Given the description of an element on the screen output the (x, y) to click on. 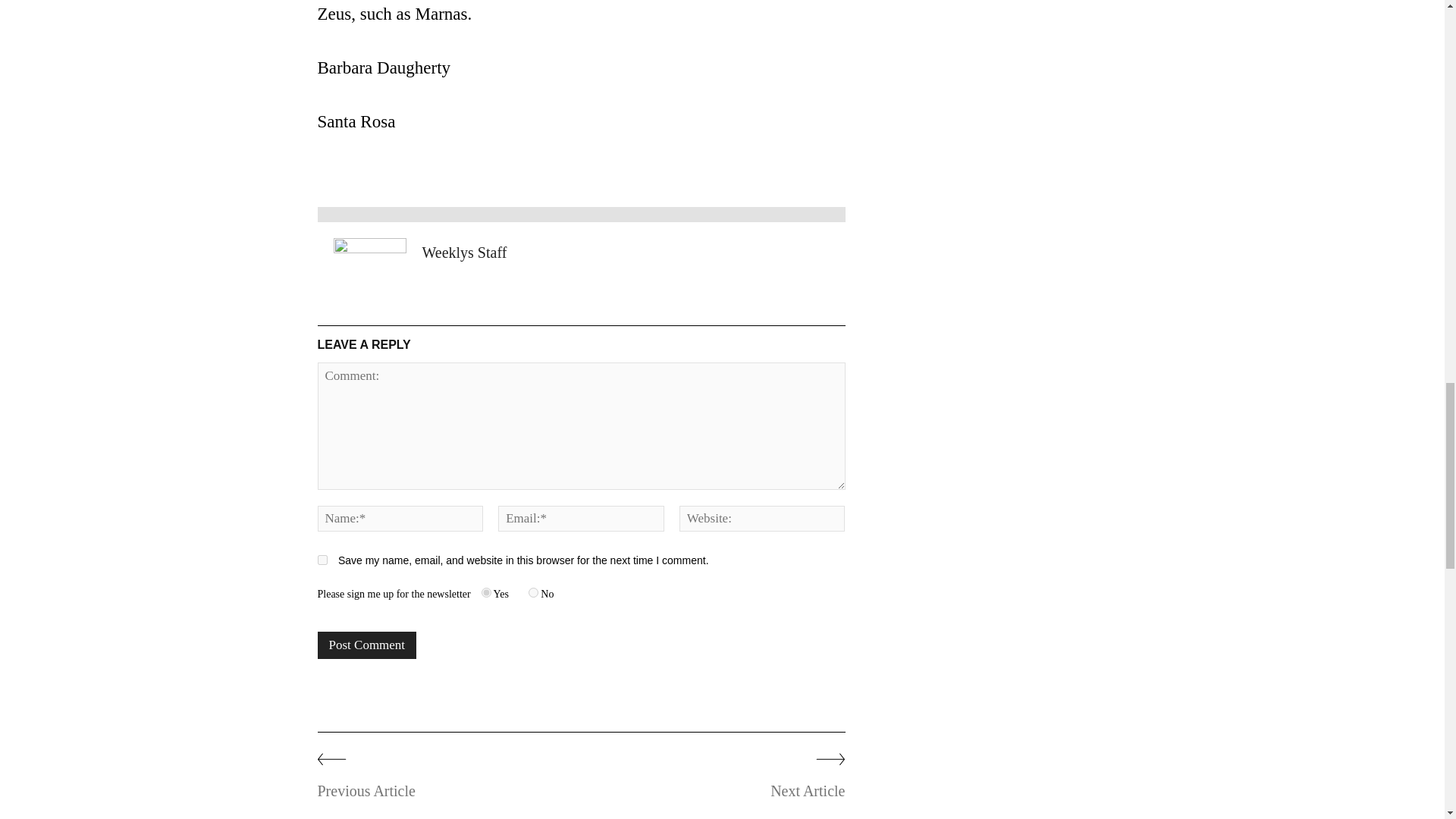
Post Comment (366, 645)
yes (321, 560)
Yes (486, 592)
No (533, 592)
